Given the description of an element on the screen output the (x, y) to click on. 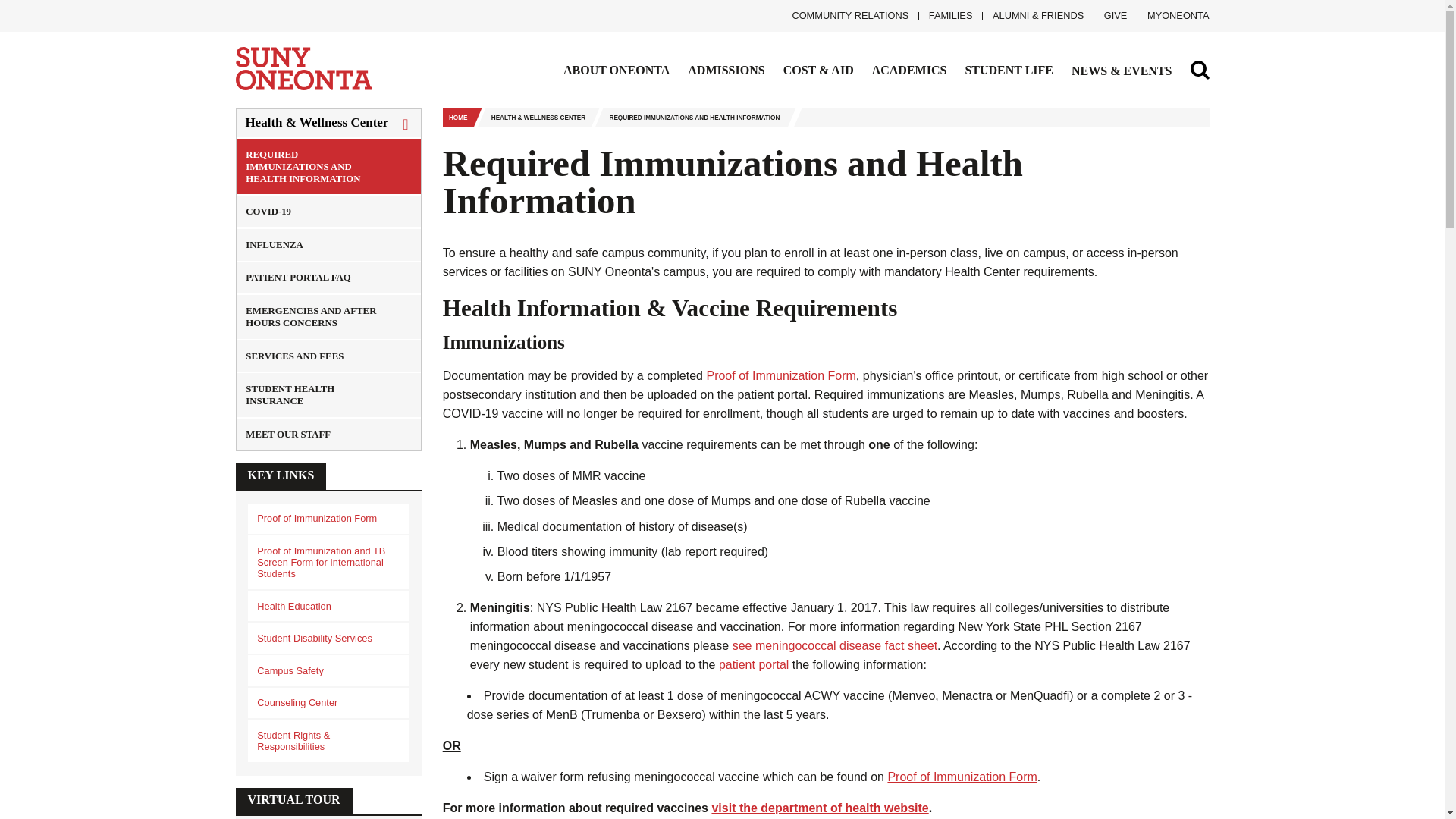
ADMISSIONS (725, 70)
GIVE (1109, 15)
ABOUT ONEONTA (616, 70)
MYONEONTA (1172, 15)
Information for Families of SUNY Oneonta Students (945, 15)
FAMILIES (945, 15)
COMMUNITY RELATIONS (845, 15)
SUNY Oneonta (257, 106)
